Given the description of an element on the screen output the (x, y) to click on. 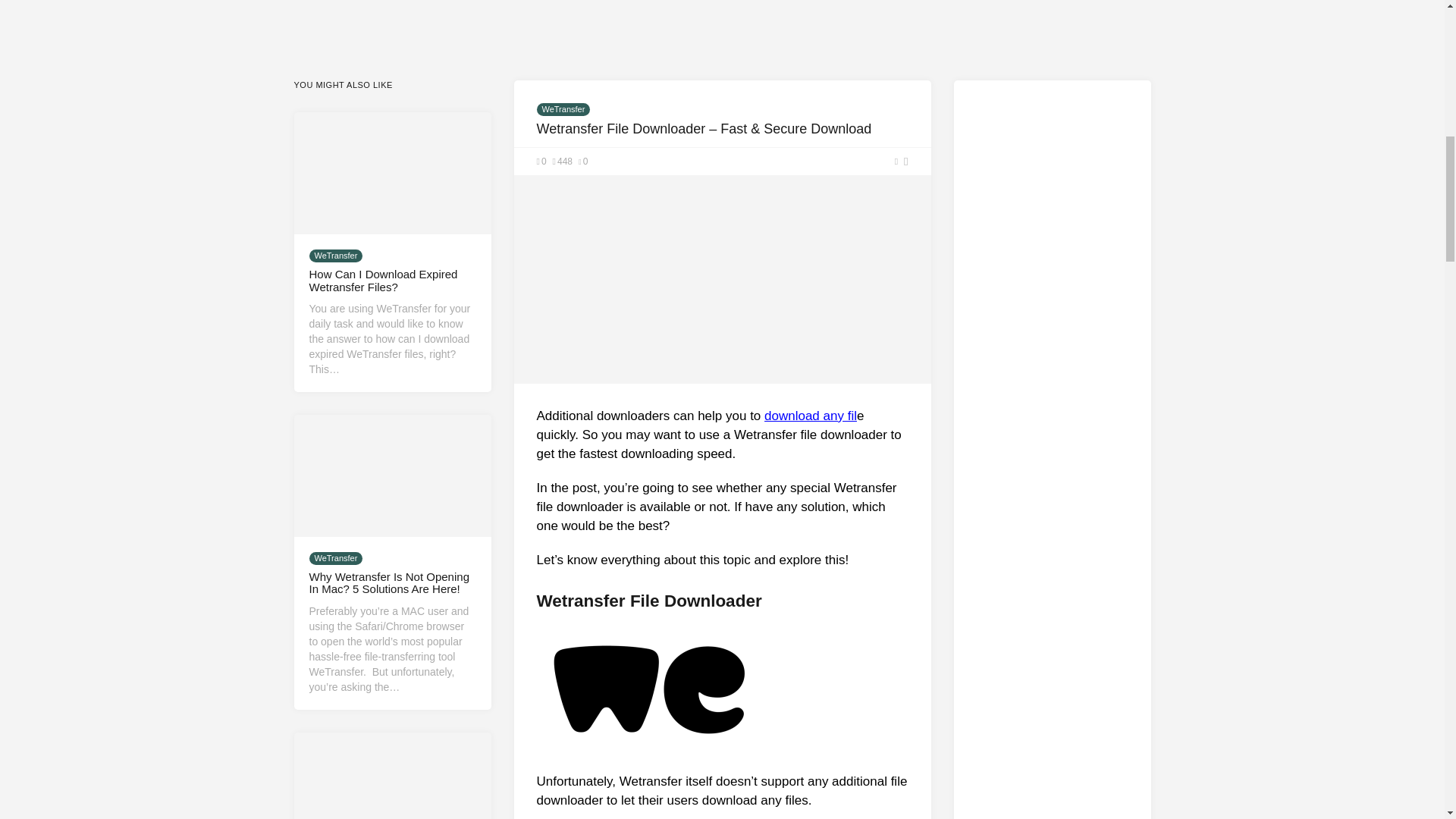
448 (562, 161)
How Can I Download Expired Wetransfer Files? (383, 280)
Advertisement (1052, 705)
WeTransfer (335, 558)
WeTransfer (564, 109)
download any fil (810, 415)
Advertisement (722, 6)
0 (542, 161)
WeTransfer (335, 255)
0 (583, 161)
